Given the description of an element on the screen output the (x, y) to click on. 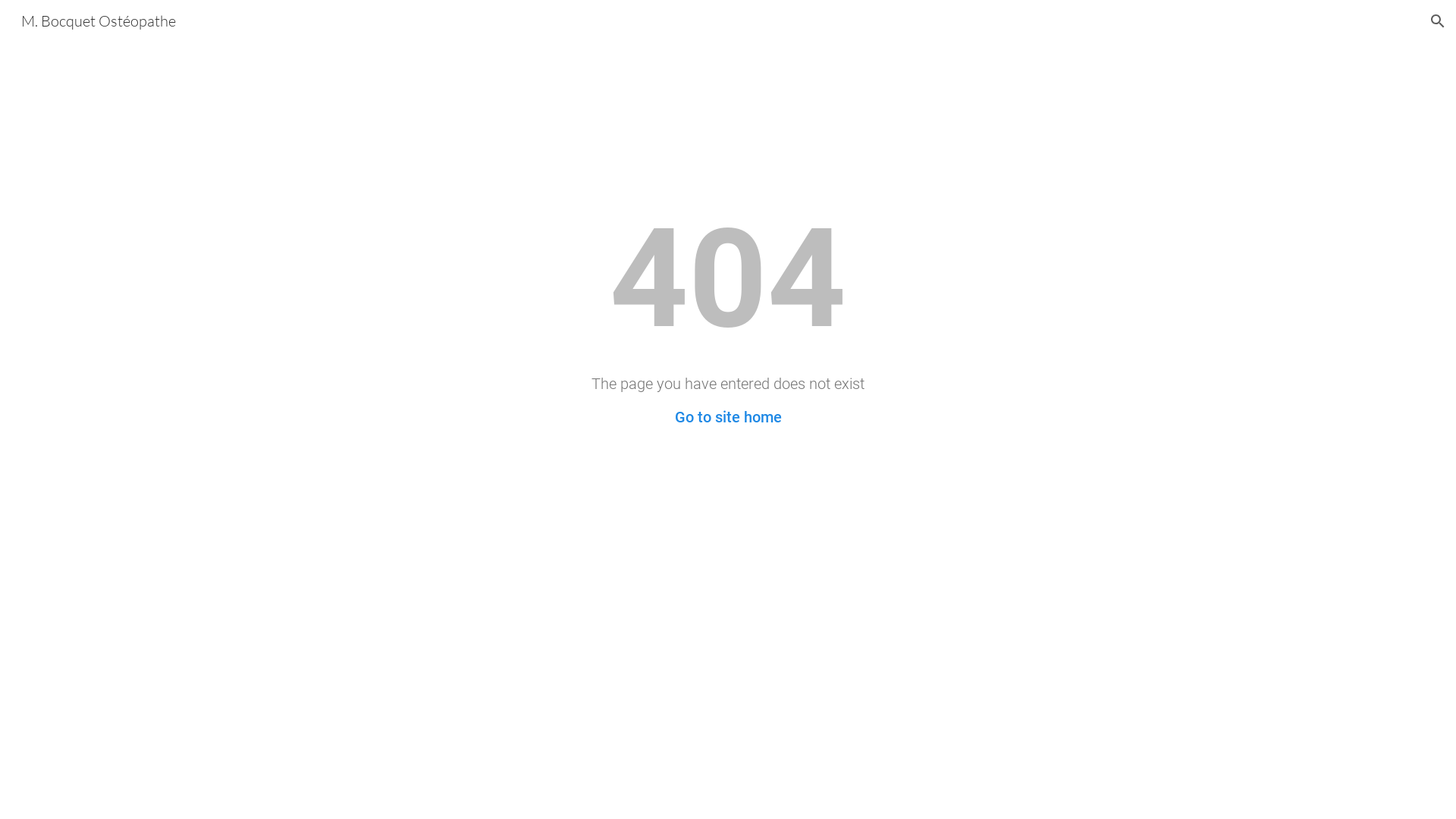
Go to site home Element type: text (727, 416)
